Given the description of an element on the screen output the (x, y) to click on. 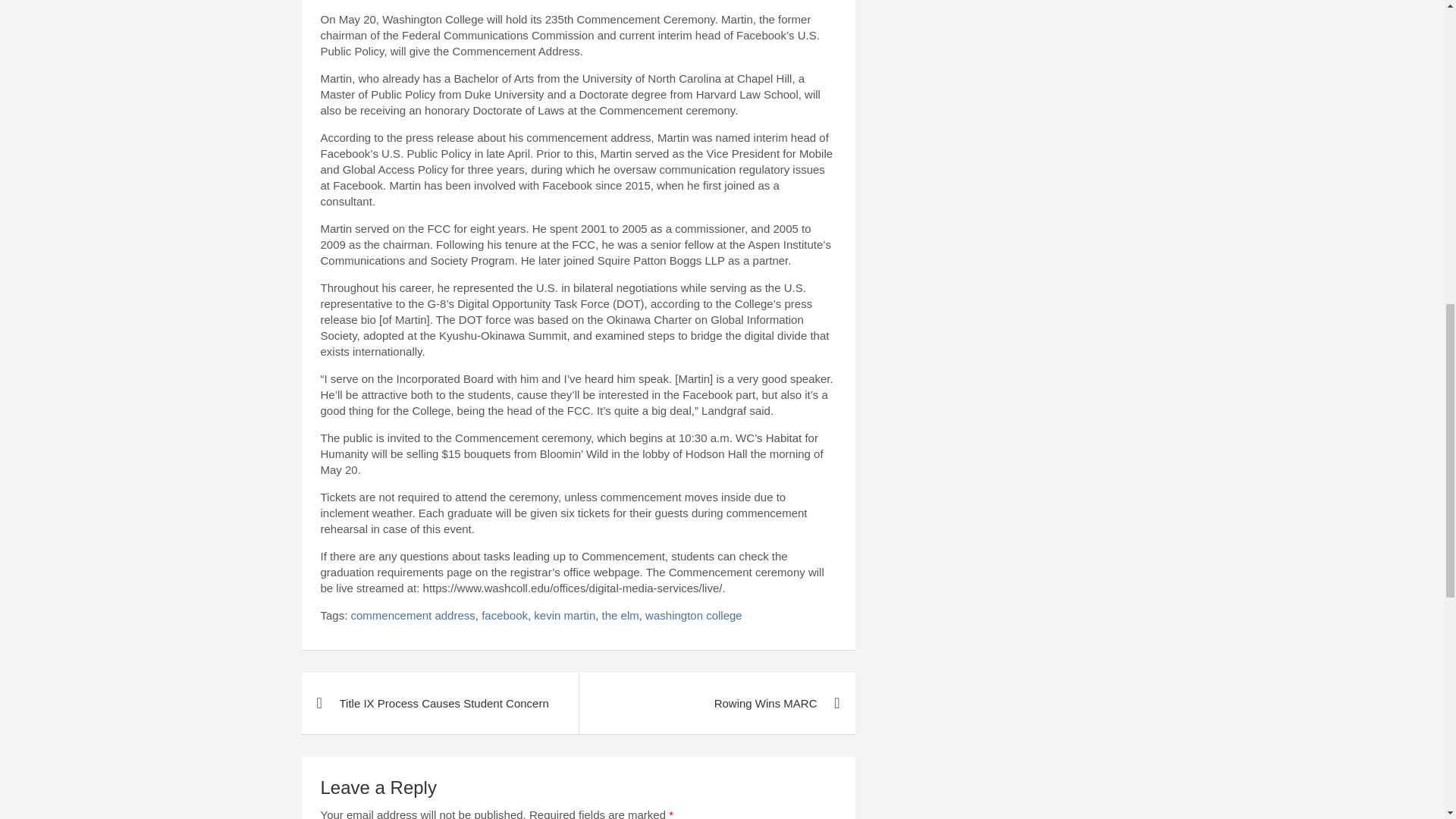
kevin martin (564, 615)
Title IX Process Causes Student Concern (439, 702)
facebook (504, 615)
the elm (620, 615)
Rowing Wins MARC (716, 702)
commencement address (413, 615)
washington college (693, 615)
